Given the description of an element on the screen output the (x, y) to click on. 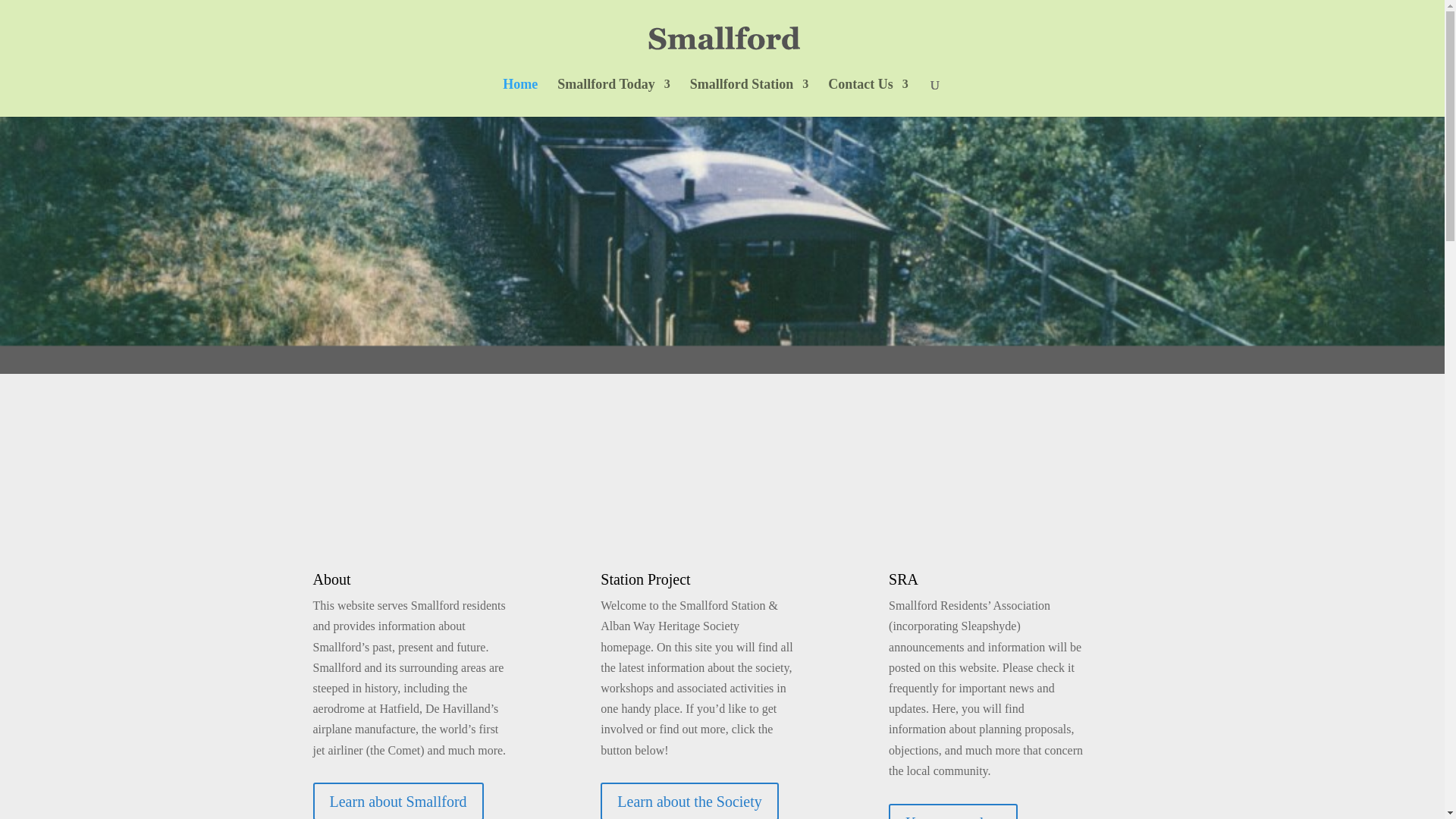
Smallford Today (613, 97)
Home (519, 97)
Learn about Smallford (398, 800)
View the Home page (519, 97)
Keep up to date (952, 811)
Contact Us (868, 97)
Contact Us (868, 97)
Smallford Station (749, 97)
Learn about the Society (688, 800)
